Given the description of an element on the screen output the (x, y) to click on. 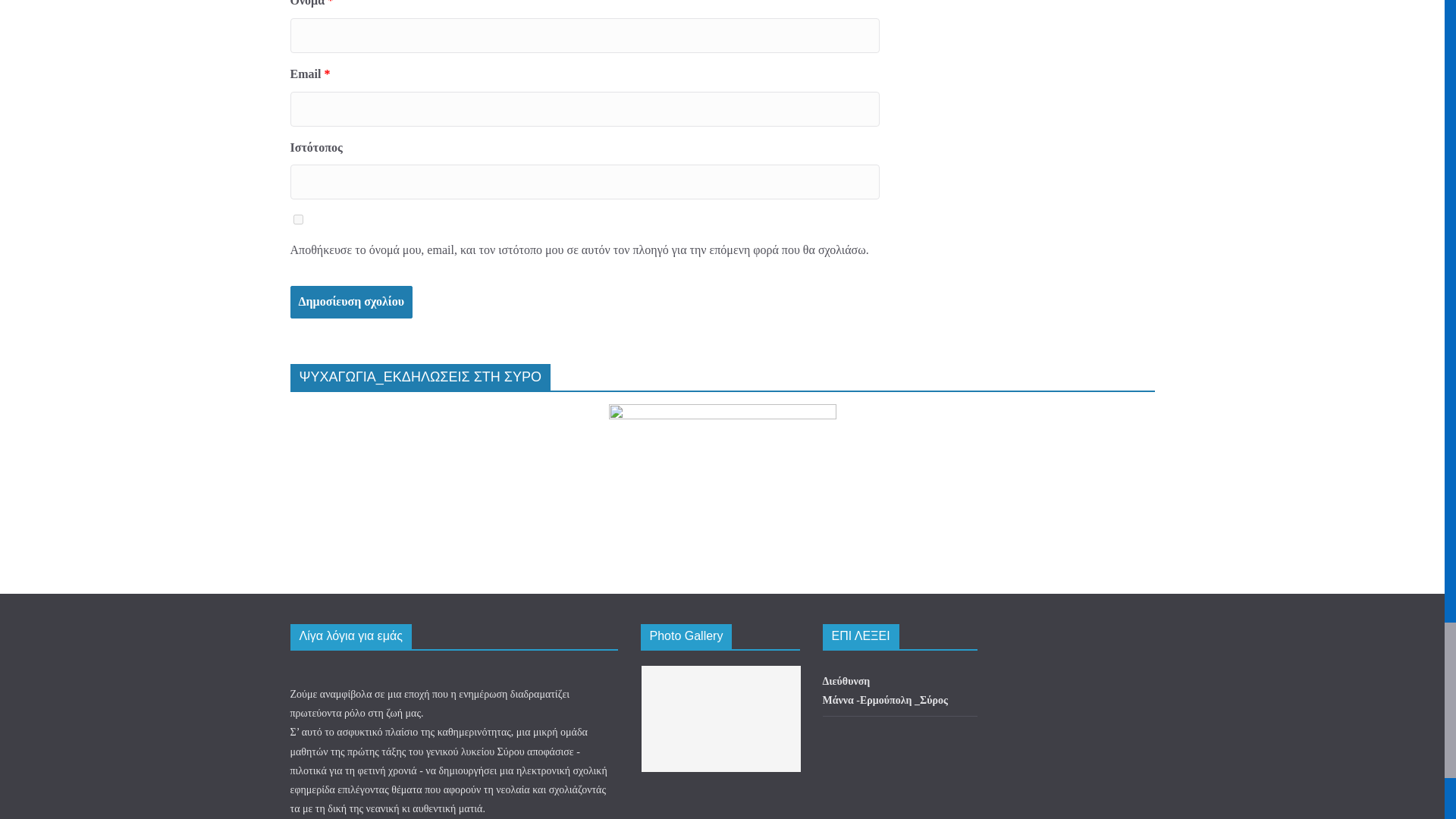
yes (297, 219)
